Given the description of an element on the screen output the (x, y) to click on. 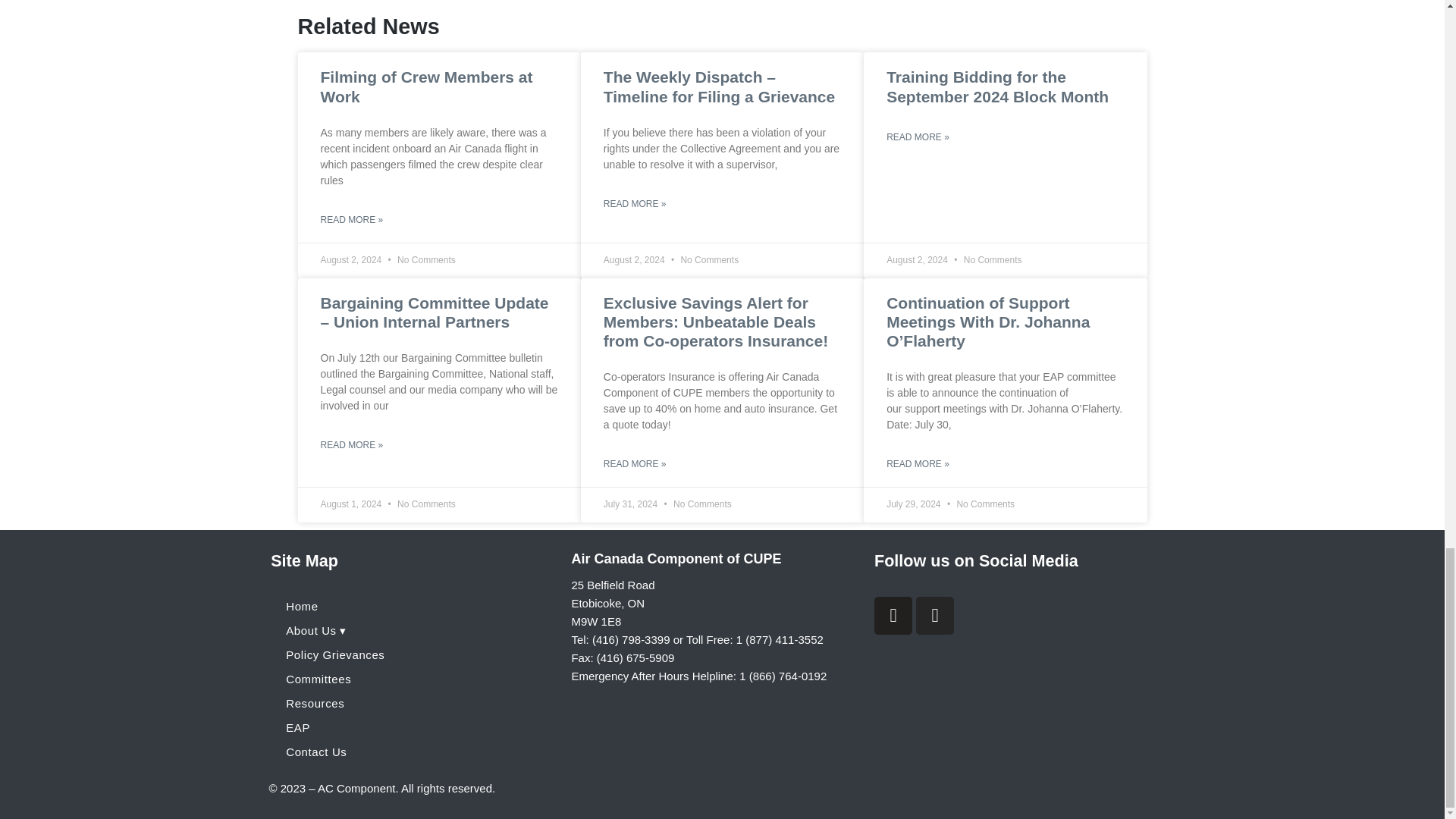
Home (413, 606)
Filming of Crew Members at Work (426, 85)
EAP (413, 727)
Contact Us (413, 752)
Training Bidding for the September 2024 Block Month (997, 85)
Committees (413, 679)
Resources (413, 703)
Policy Grievances (413, 654)
